Given the description of an element on the screen output the (x, y) to click on. 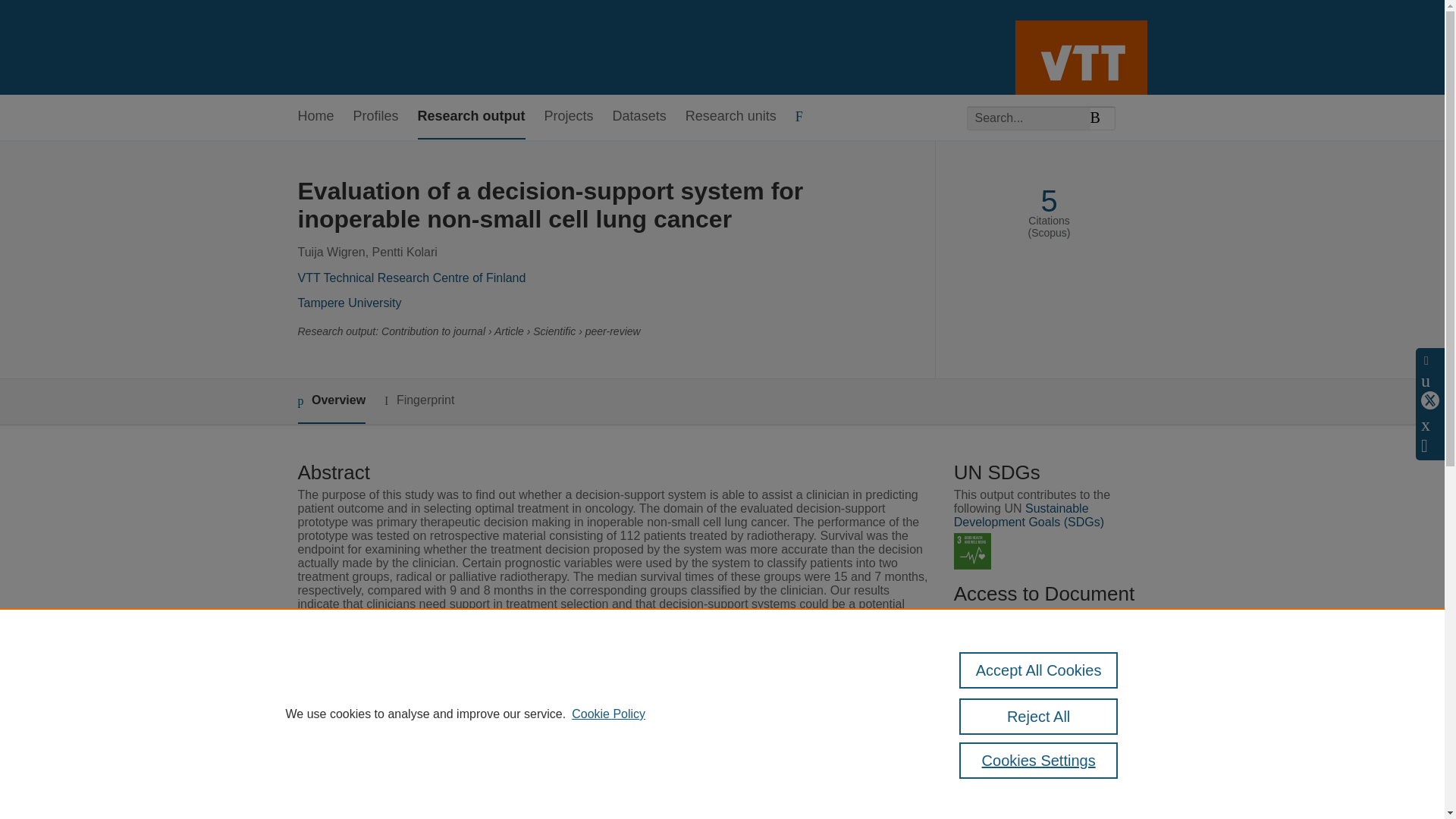
Research output (471, 117)
VTT Technical Research Centre of Finland (411, 277)
Research units (730, 117)
Tampere University (349, 302)
Methods of Information in Medicine (601, 690)
SDG 3 - Good Health and Well-being (972, 551)
VTT's Research Information Portal Home (322, 47)
Profiles (375, 117)
Fingerprint (419, 400)
